Given the description of an element on the screen output the (x, y) to click on. 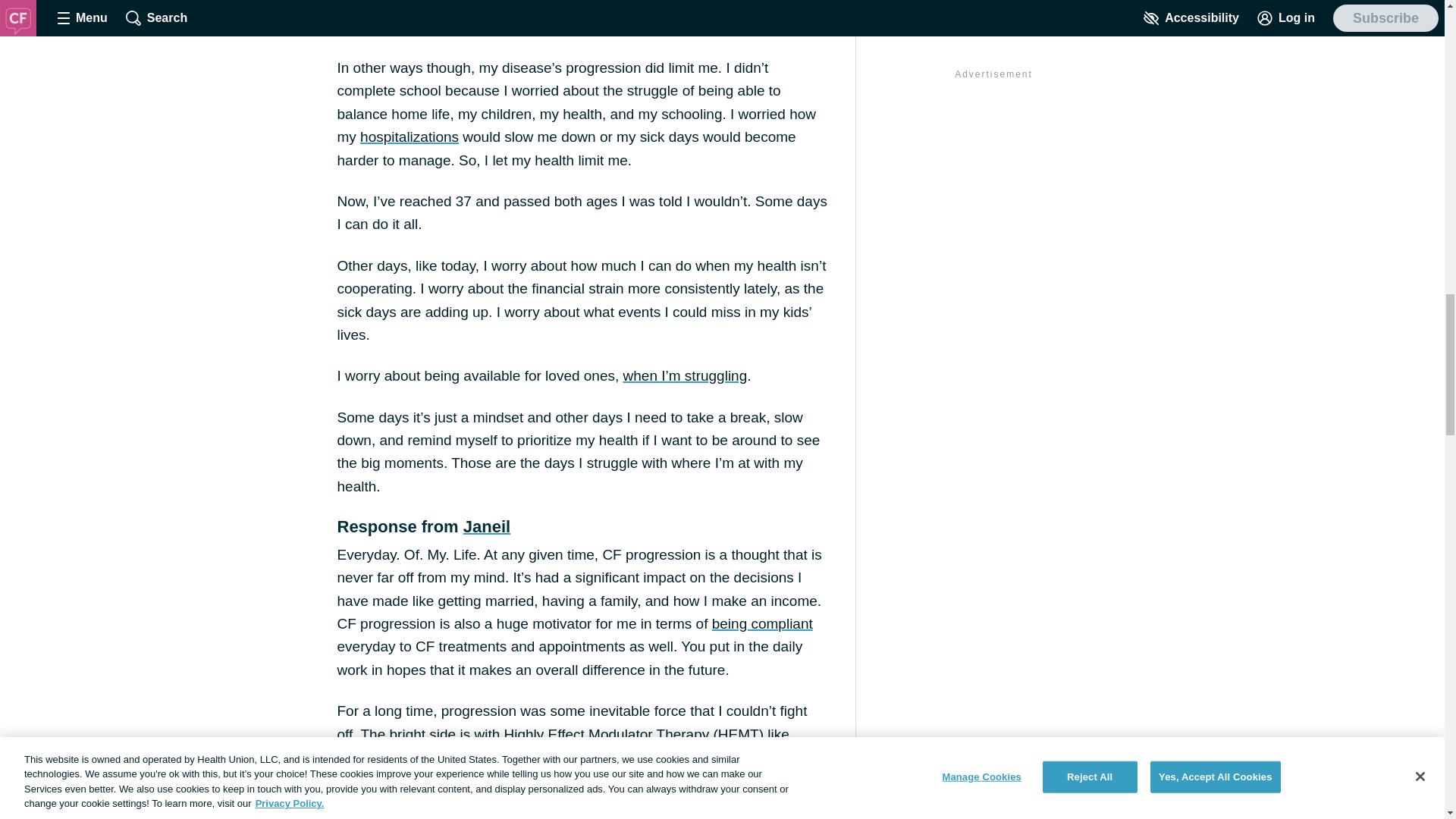
3rd party ad content (992, 47)
